Given the description of an element on the screen output the (x, y) to click on. 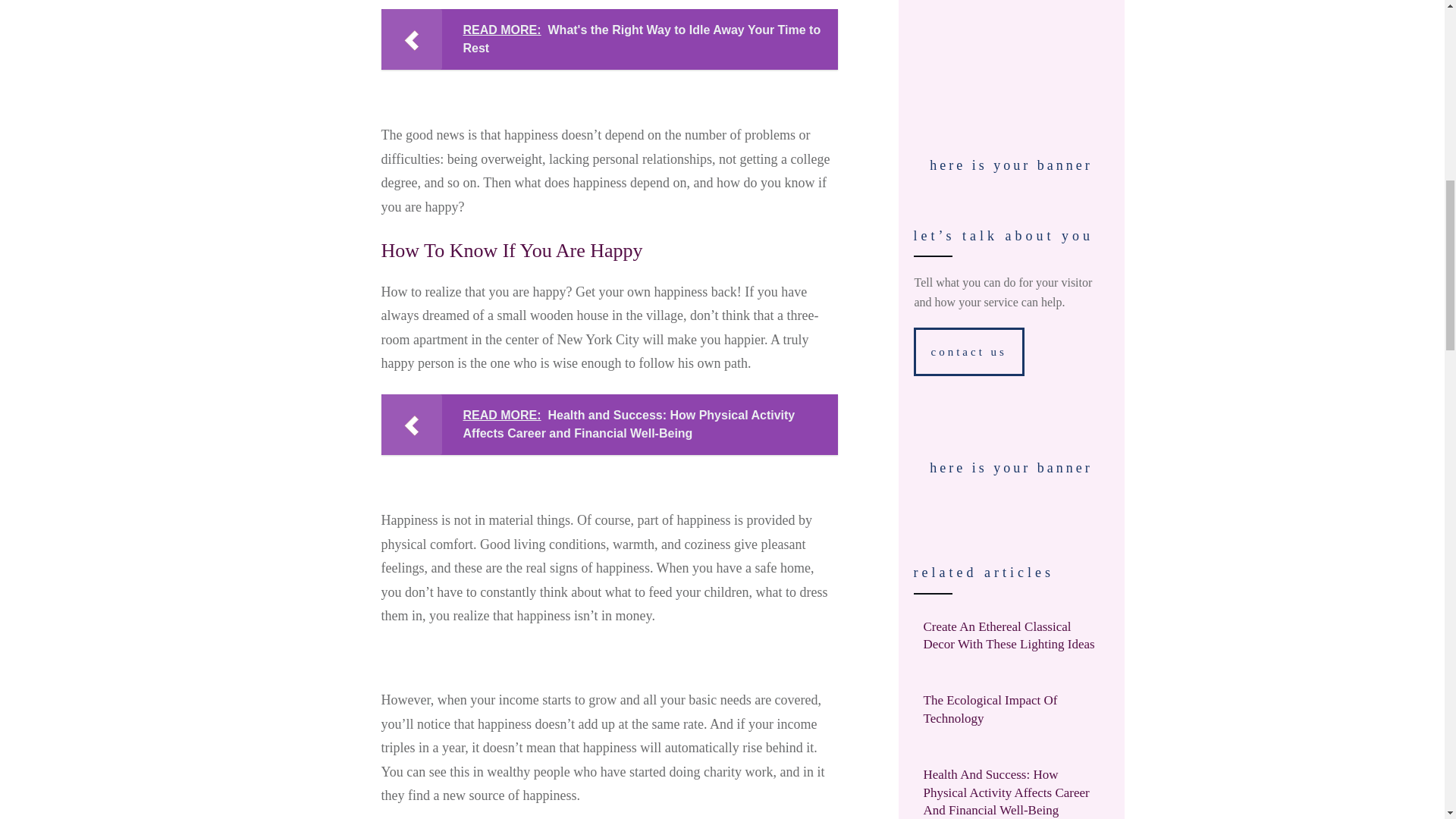
The Ecological Impact of Technology (990, 708)
Create an ethereal Classical Decor with these lighting ideas (1008, 635)
